Given the description of an element on the screen output the (x, y) to click on. 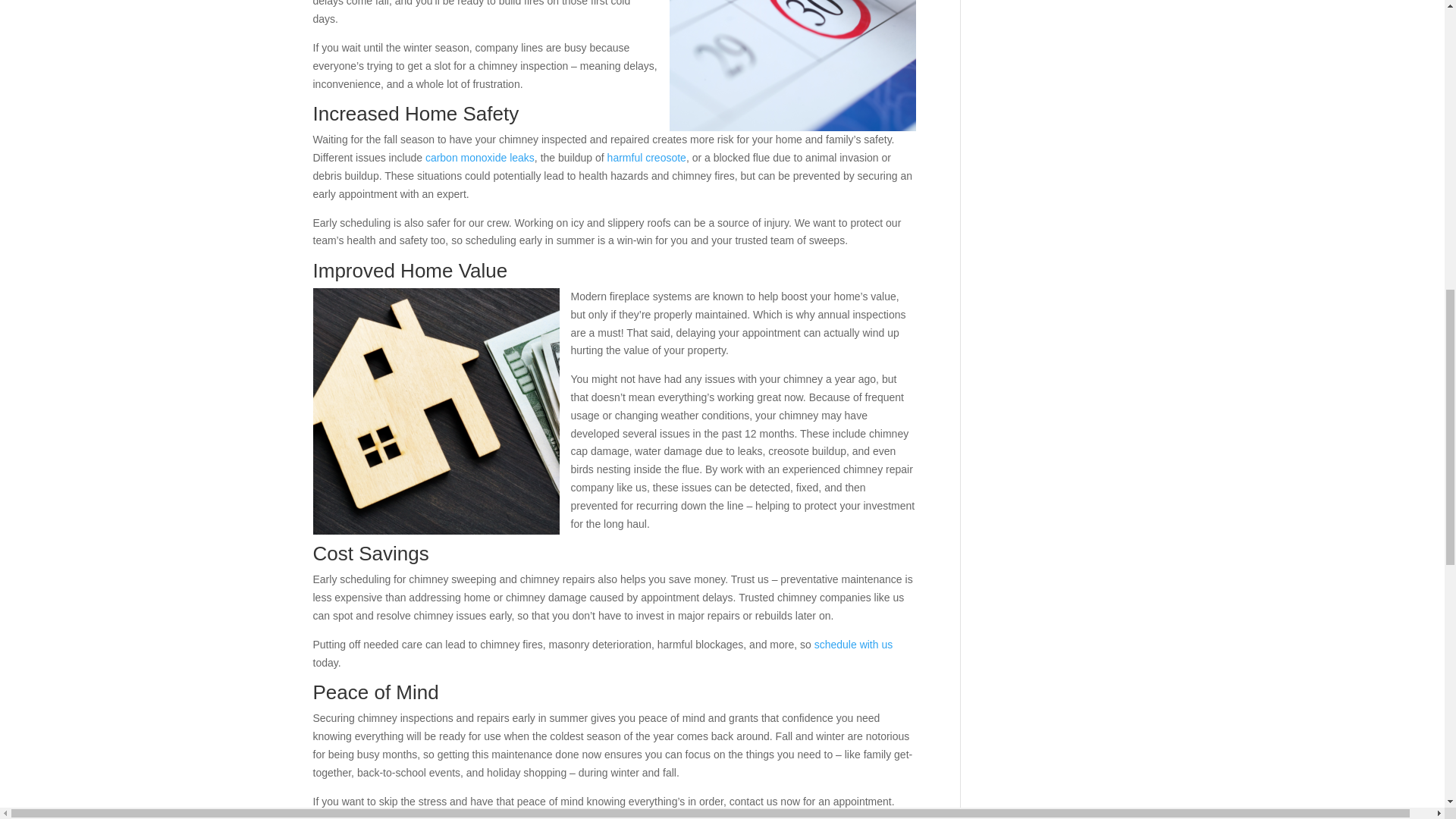
carbon monoxide leaks (479, 157)
